Given the description of an element on the screen output the (x, y) to click on. 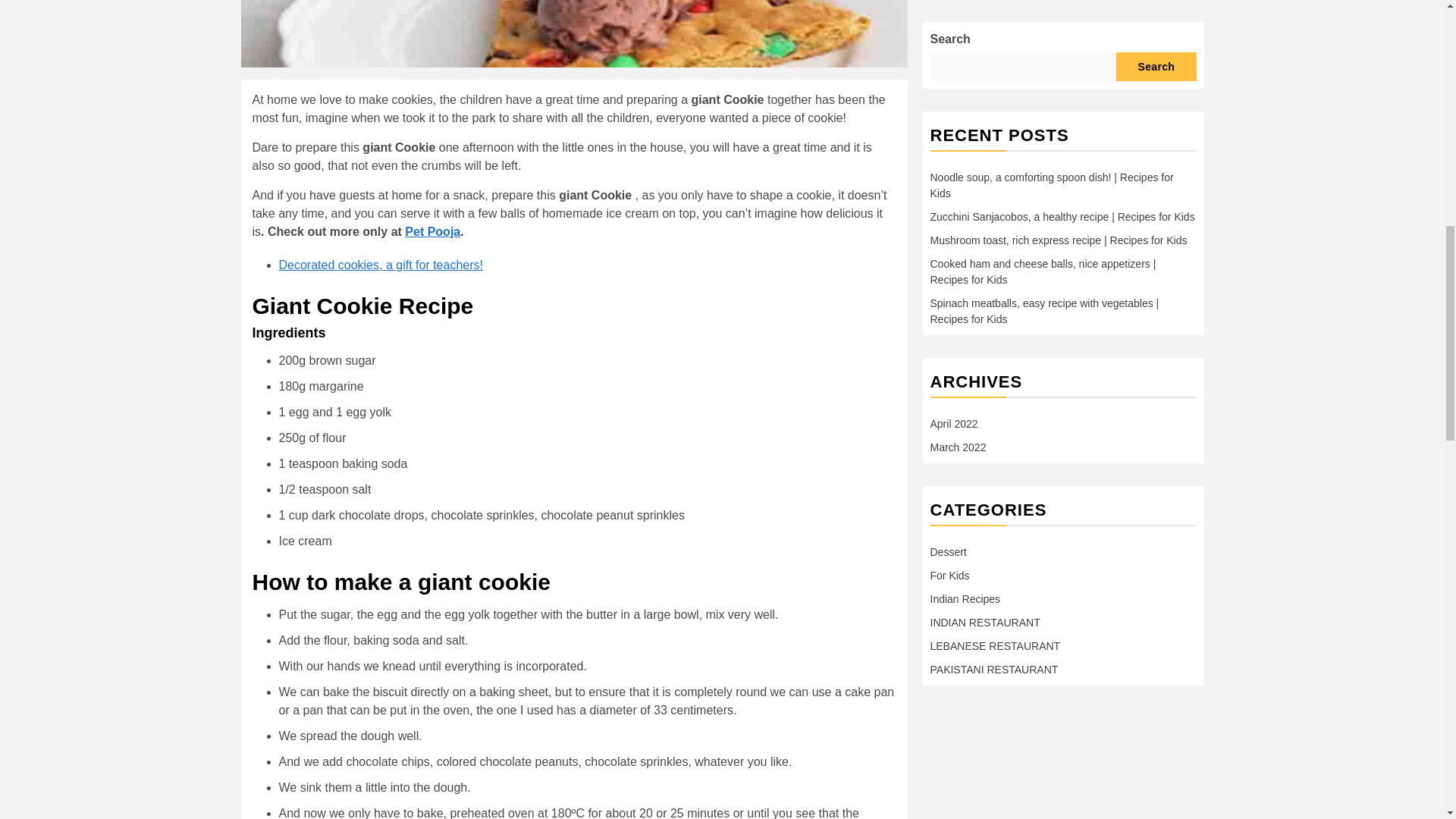
Pet Pooja (432, 231)
Decorated cookies, a gift for teachers! (381, 264)
